Given the description of an element on the screen output the (x, y) to click on. 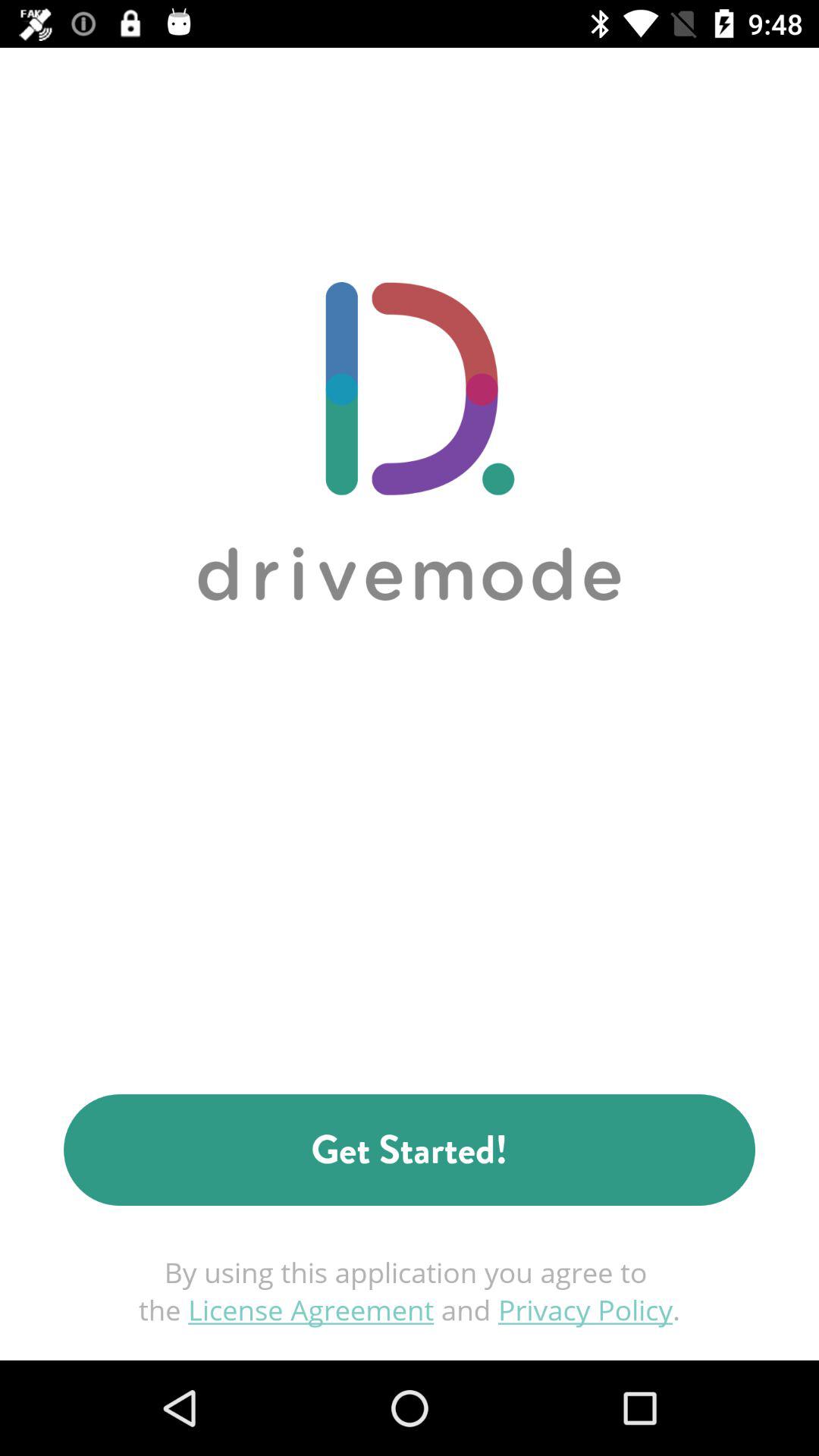
flip to the by using this (409, 1290)
